Given the description of an element on the screen output the (x, y) to click on. 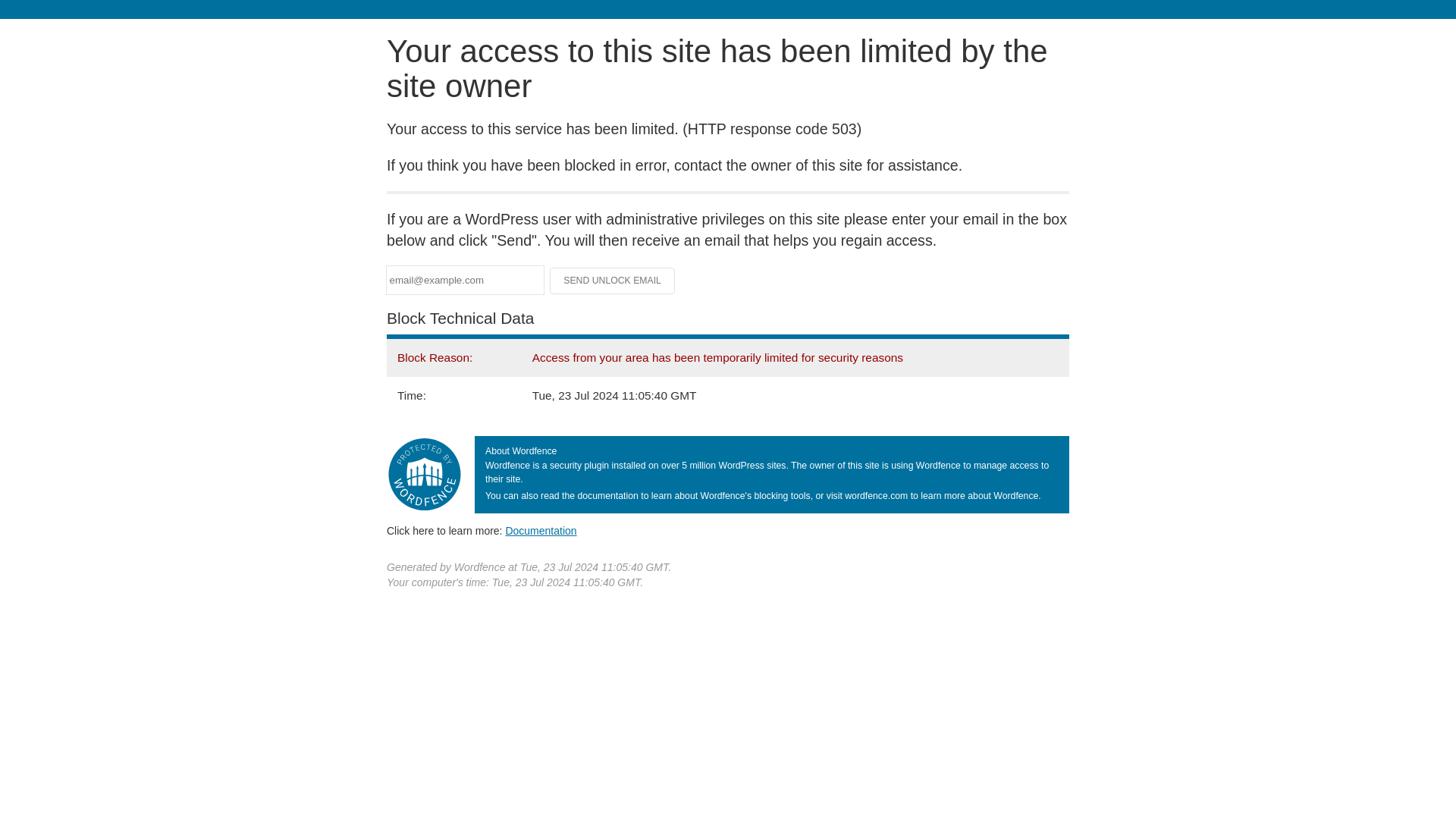
Send Unlock Email (612, 280)
Send Unlock Email (612, 280)
